Given the description of an element on the screen output the (x, y) to click on. 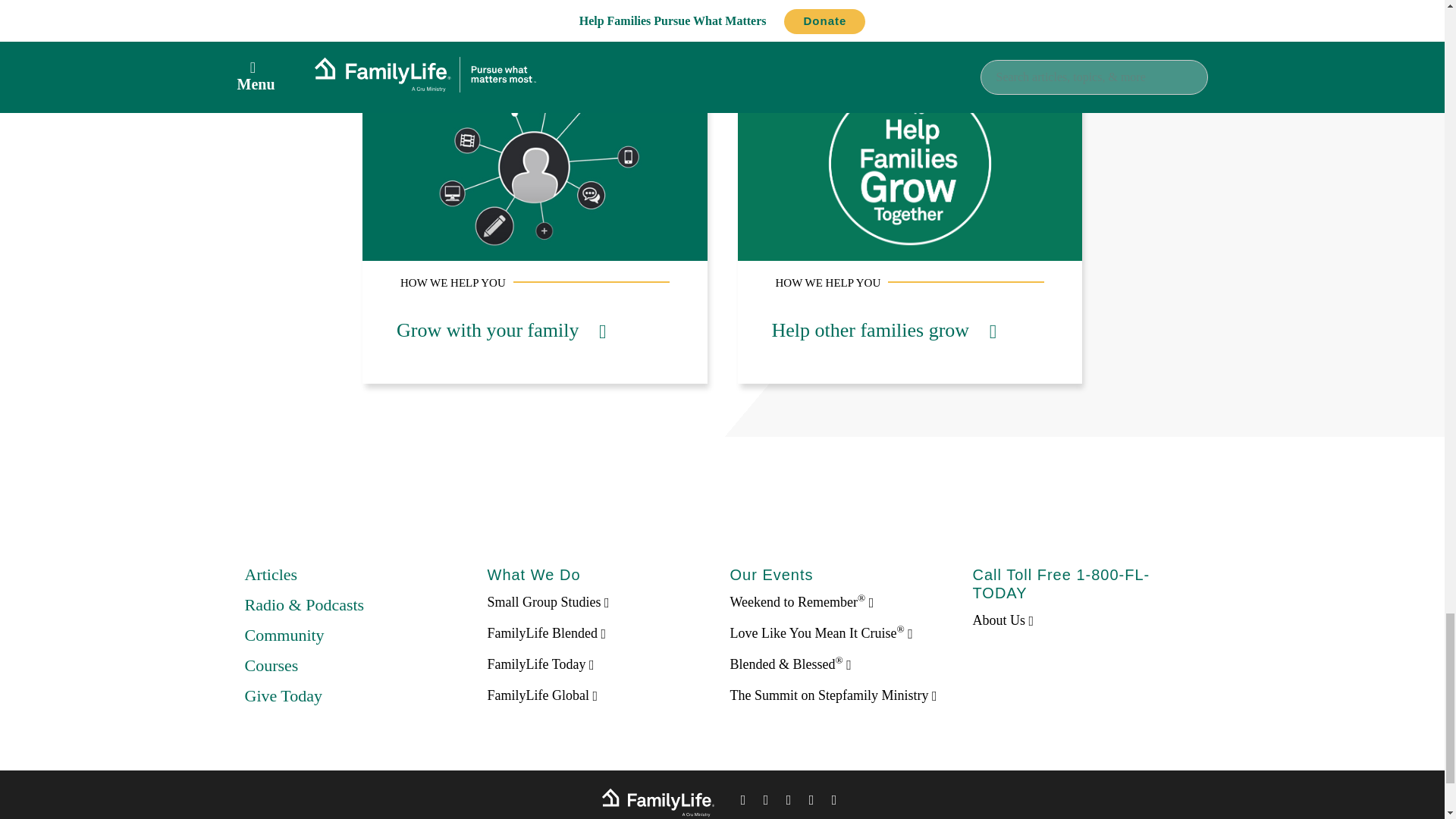
FamilyLife Global (541, 694)
Give Today (282, 695)
Instagram (811, 802)
FamilyLife Today (540, 663)
Help other families grow (884, 330)
The Summit on Stepfamily Ministry (832, 694)
FamilyLife Blended (545, 632)
Youtube (834, 802)
Grow with your family (500, 330)
Pinterest (787, 802)
About Us (1002, 620)
Small Group Studies (547, 601)
Courses (271, 665)
Facebook (742, 802)
Articles (270, 574)
